Given the description of an element on the screen output the (x, y) to click on. 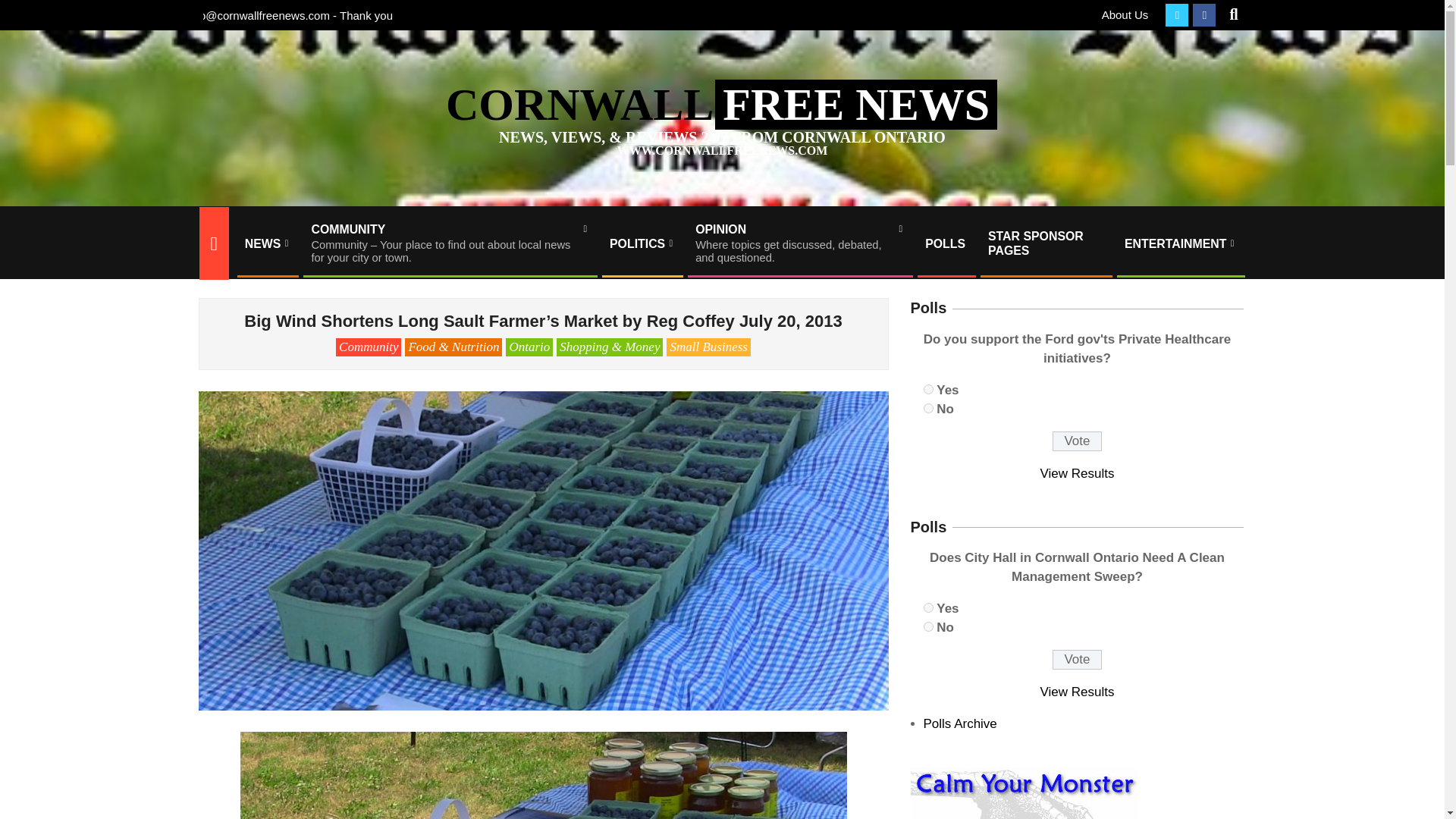
POLITICS (641, 243)
POLLS (945, 243)
About Us (1125, 14)
   Vote    (1076, 441)
   Vote    (1076, 659)
View Results Of This Poll (1078, 473)
ENTERTAINMENT (1179, 243)
NEWS (799, 243)
View Results Of This Poll (265, 243)
STAR SPONSOR PAGES (1078, 691)
1777 (1044, 243)
1770 (928, 408)
1776 (928, 607)
Search (928, 388)
